Given the description of an element on the screen output the (x, y) to click on. 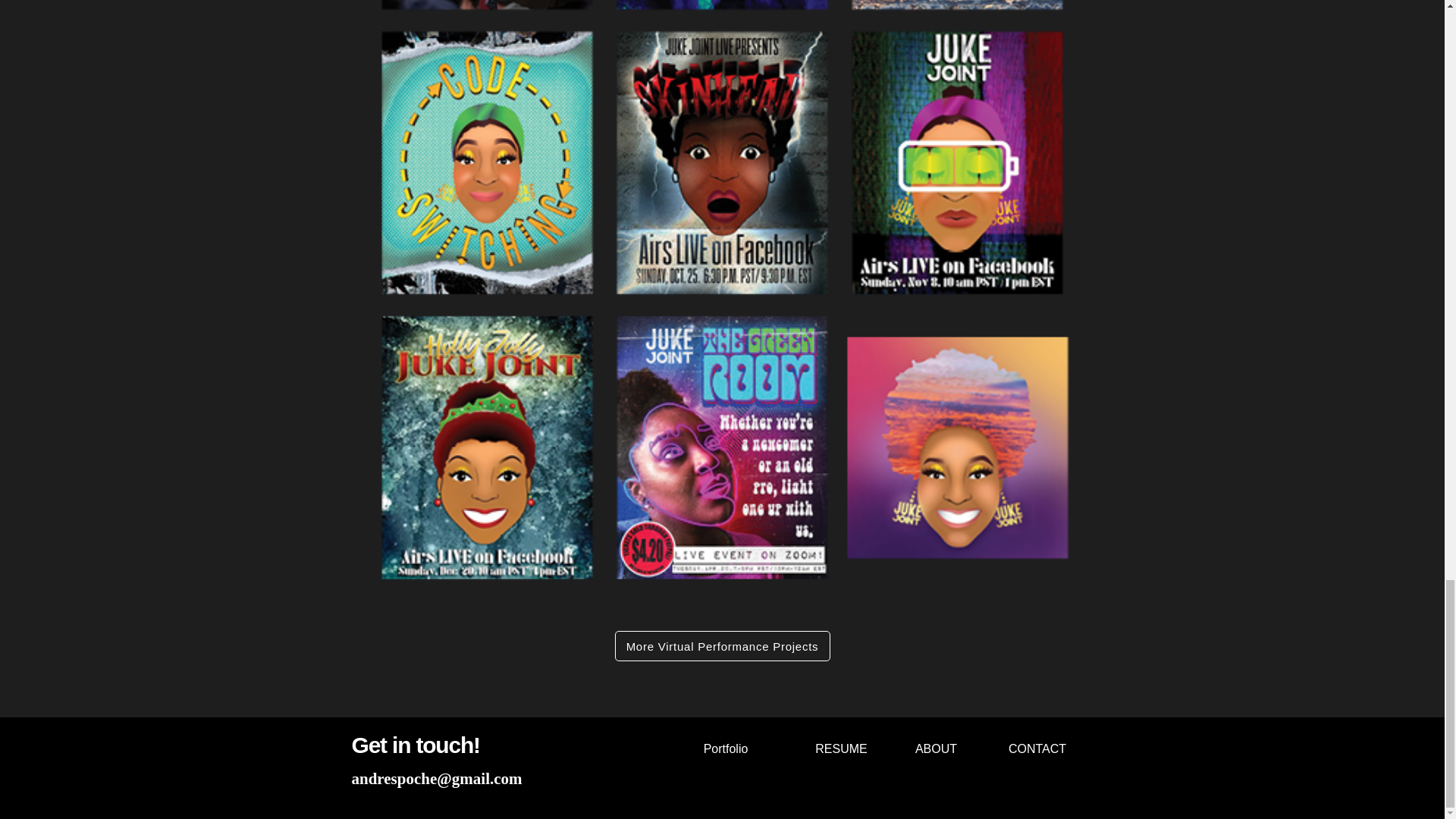
CONTACT (1037, 748)
More Virtual Performance Projects (721, 645)
Portfolio (724, 748)
ABOUT (936, 748)
RESUME (841, 748)
